Given the description of an element on the screen output the (x, y) to click on. 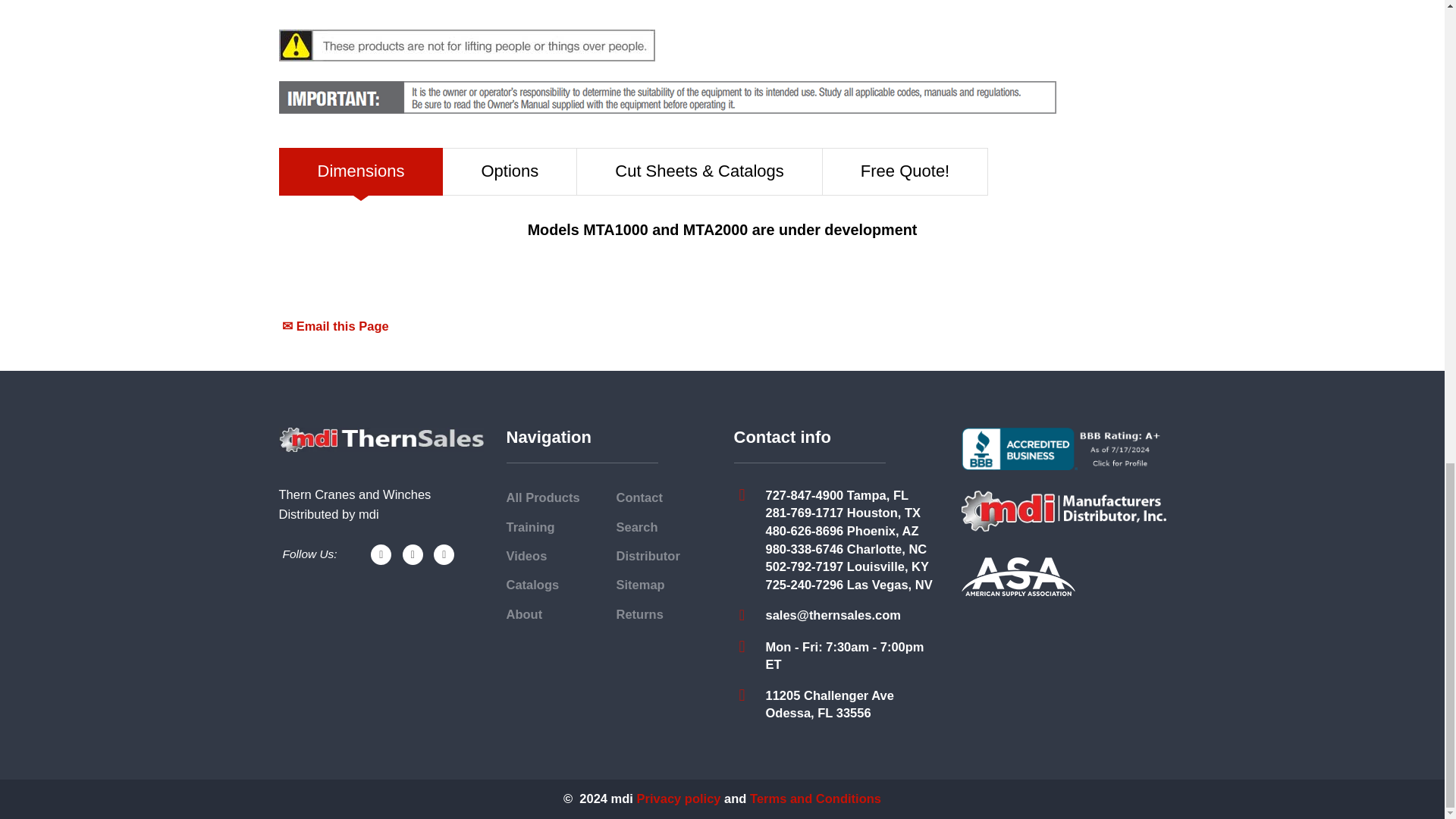
American Supply Association (1017, 576)
